Given the description of an element on the screen output the (x, y) to click on. 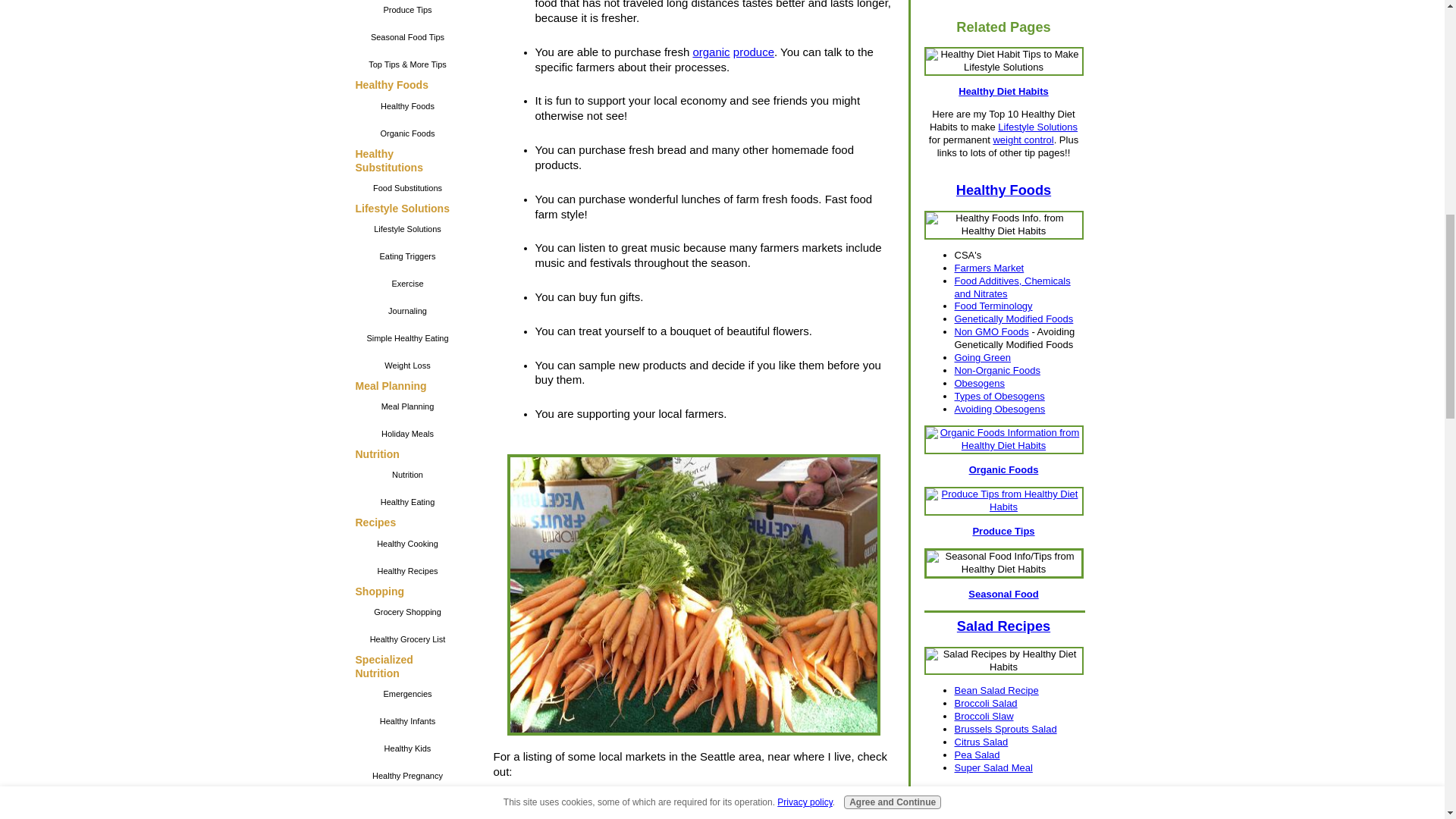
Organic Foods Information from Healthy Diet Habits (1003, 439)
Healthy Soup Recipes by Healthy Diet Habits (1003, 816)
produce (753, 51)
Healthy Foods (407, 105)
Food Substitutions (407, 187)
Organic Foods (407, 133)
organic (711, 52)
Eating Triggers (407, 256)
Produce Tips from Healthy Diet Habits (1003, 500)
Lifestyle Solutions (407, 228)
Journaling (407, 310)
Healthy Foods Info. from Healthy Diet Habits (1003, 224)
Exercise (407, 283)
Healthy Diet Habit Tips to Make Lifestyle Solutions (1003, 61)
